Given the description of an element on the screen output the (x, y) to click on. 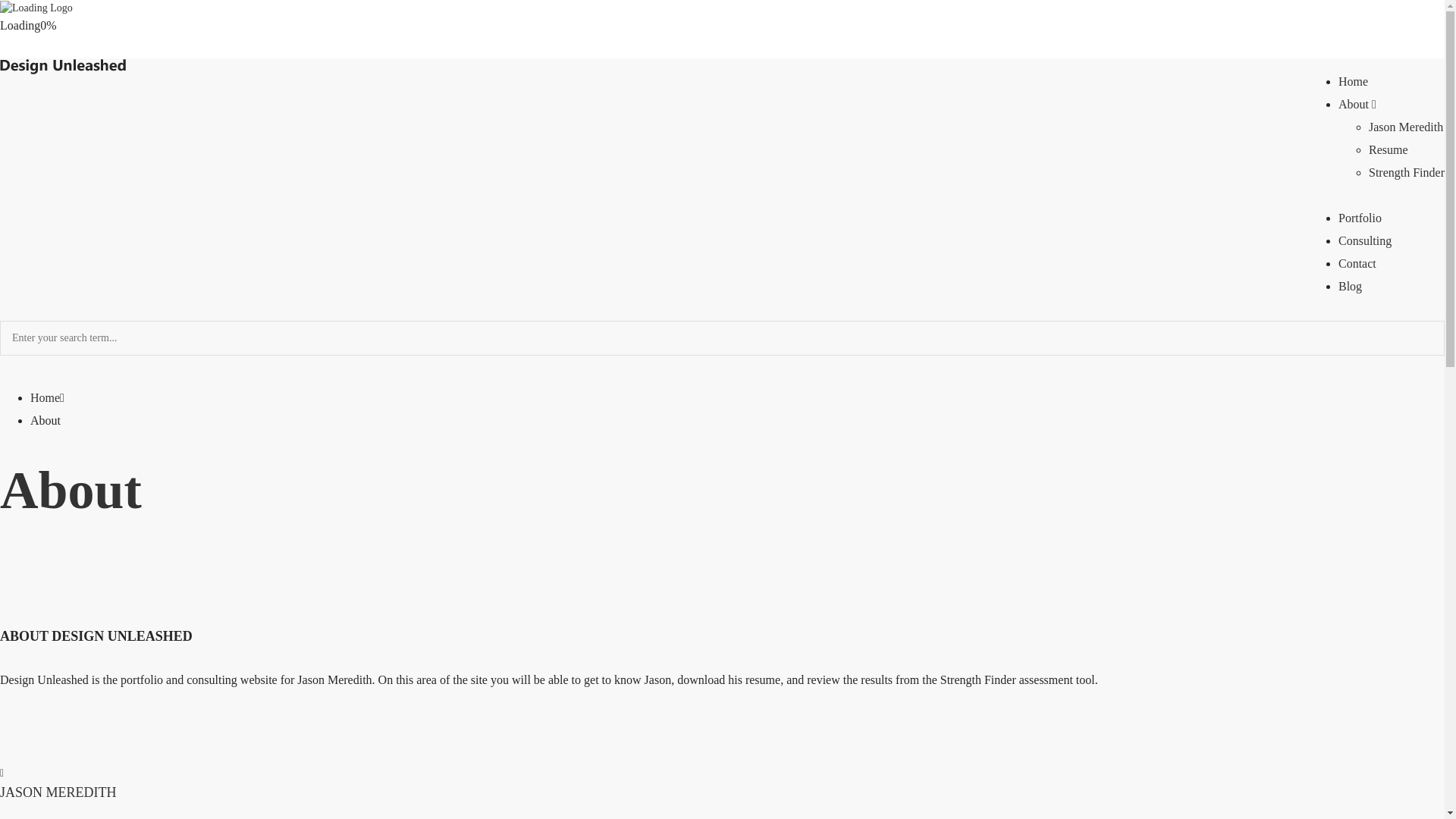
Contact (1356, 263)
Jason Meredith (1405, 126)
JASON MEREDITH (58, 792)
Portfolio (1359, 217)
About (1356, 103)
Resume (1387, 149)
Home (1353, 81)
Consulting (1364, 240)
Blog (1349, 286)
Home (44, 397)
